Given the description of an element on the screen output the (x, y) to click on. 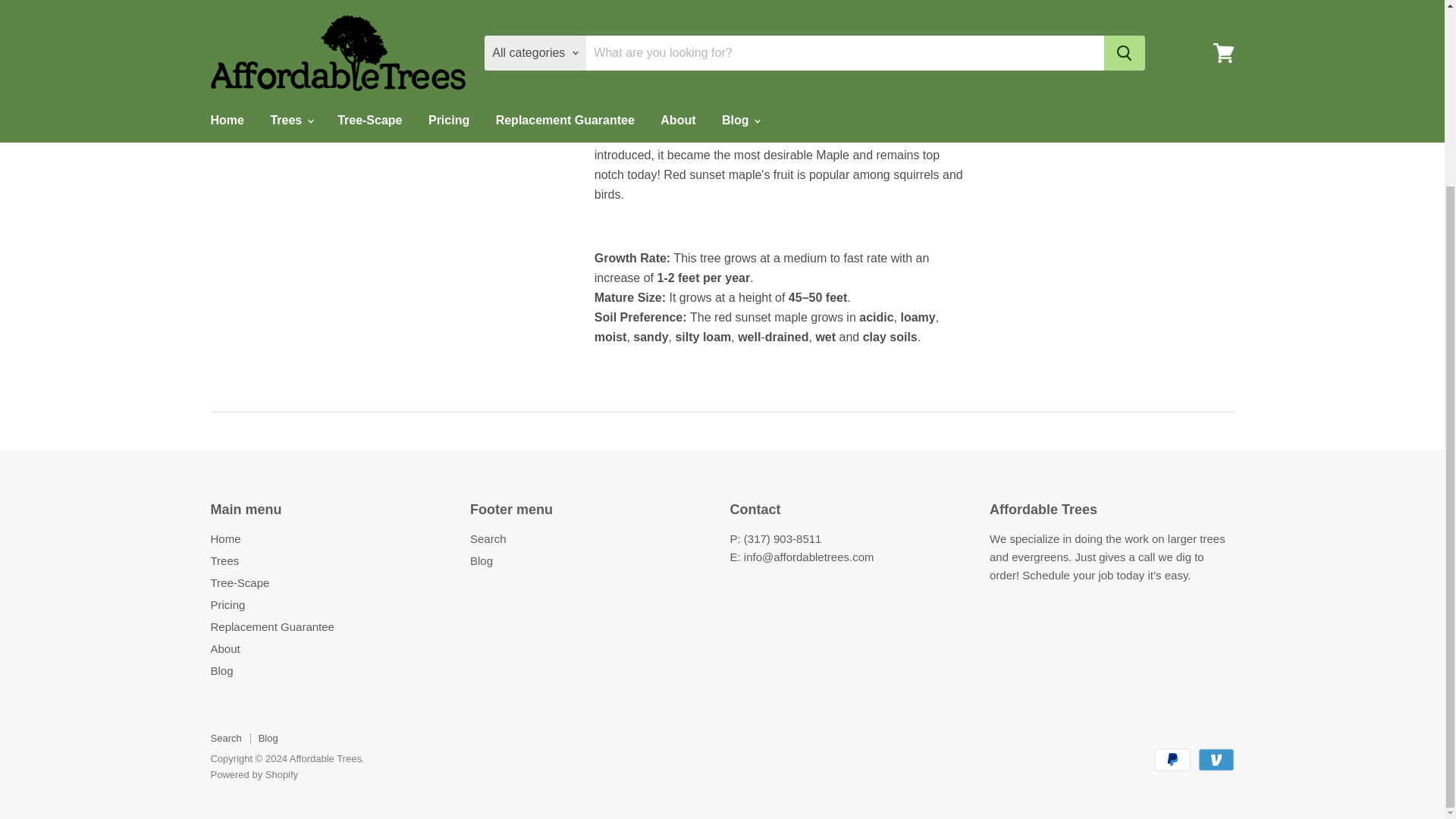
PayPal (1172, 759)
Venmo (1216, 759)
